Given the description of an element on the screen output the (x, y) to click on. 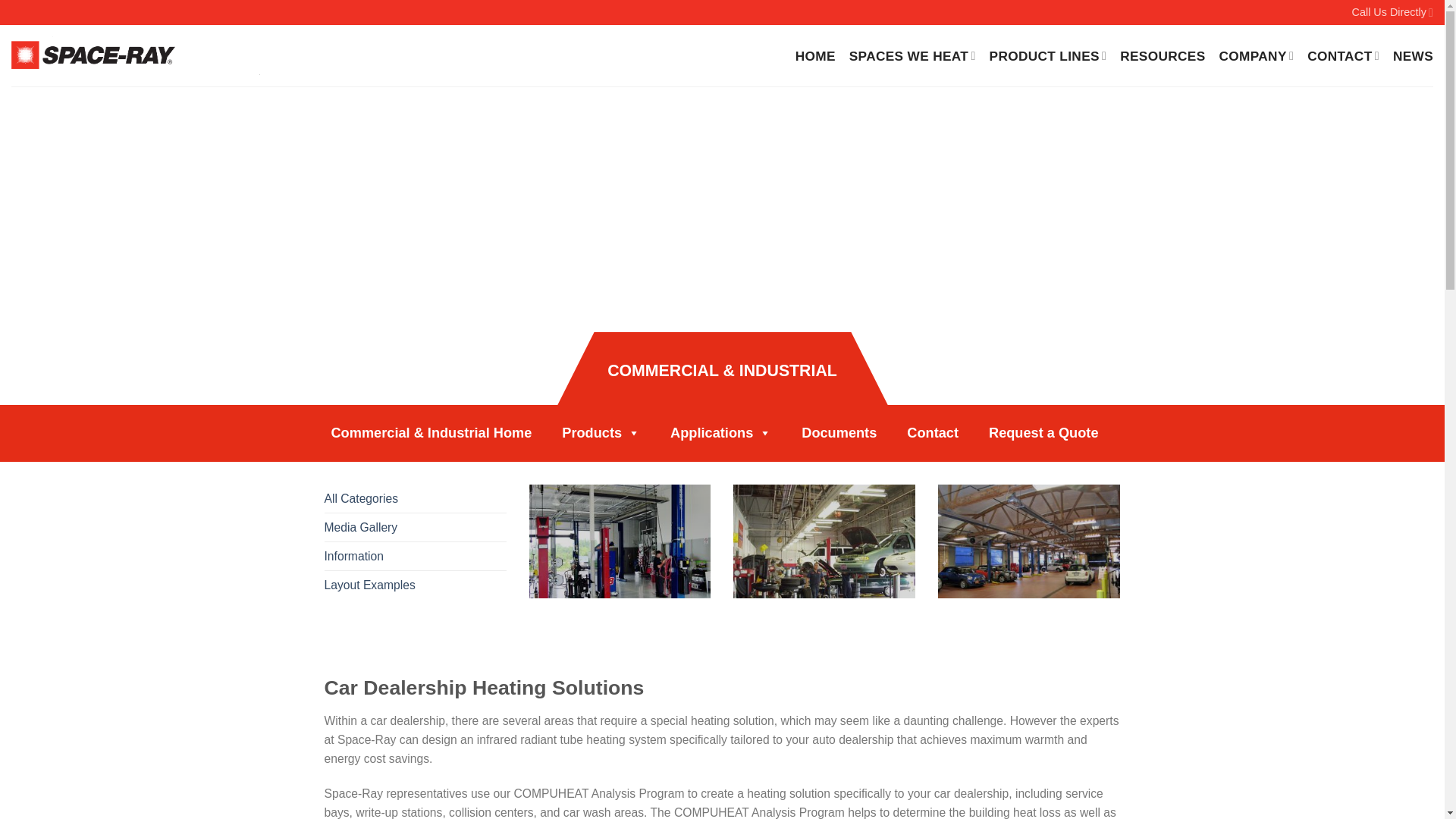
Space-Ray Infrared Gas Heaters - We Know Heat (135, 55)
Call Us Directly (1392, 12)
HOME (814, 55)
SPACES WE HEAT (911, 55)
PRODUCT LINES (1048, 55)
